Given the description of an element on the screen output the (x, y) to click on. 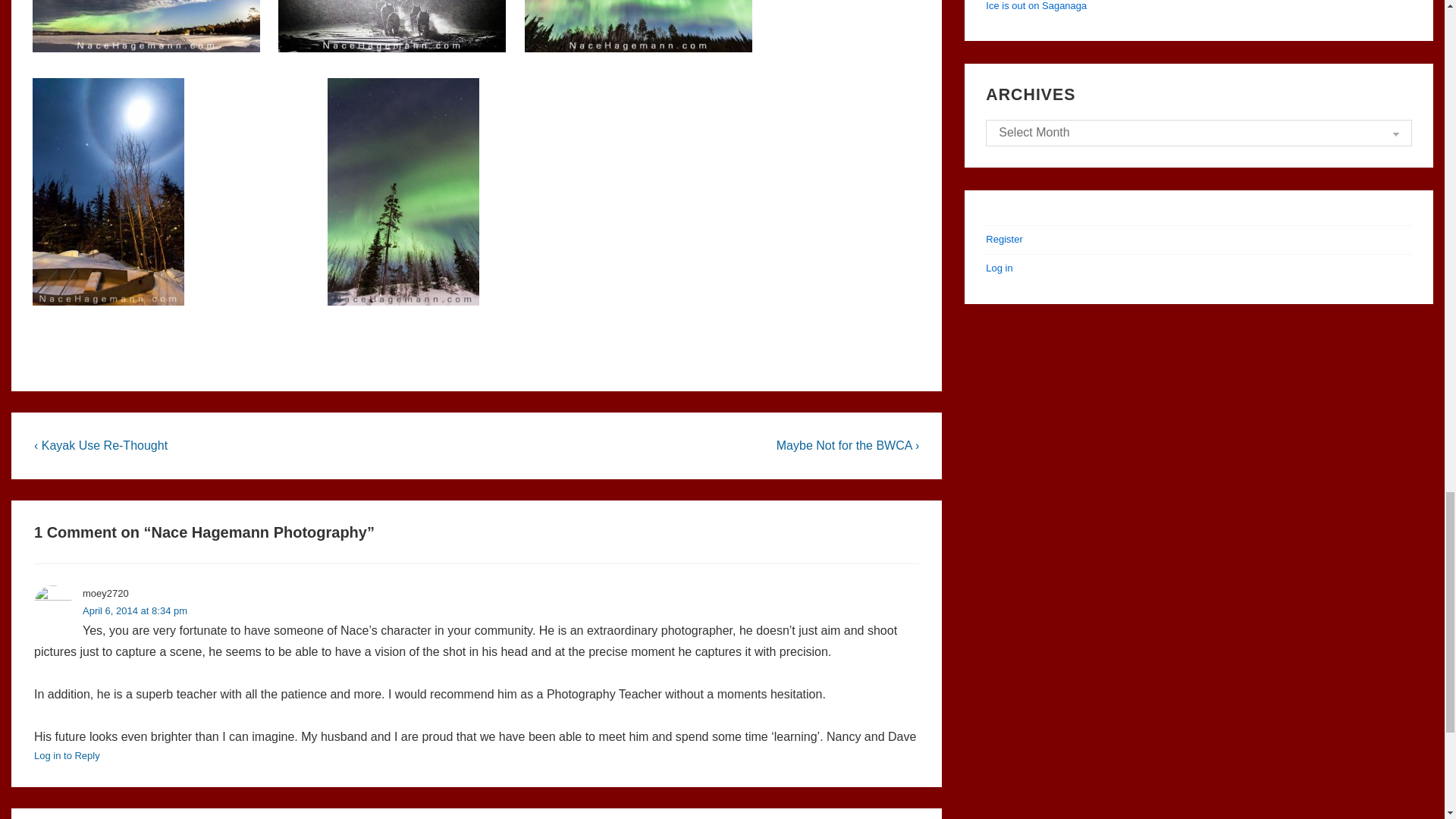
April 6, 2014 at 8:34 pm (134, 610)
Log in to Reply (66, 755)
